Given the description of an element on the screen output the (x, y) to click on. 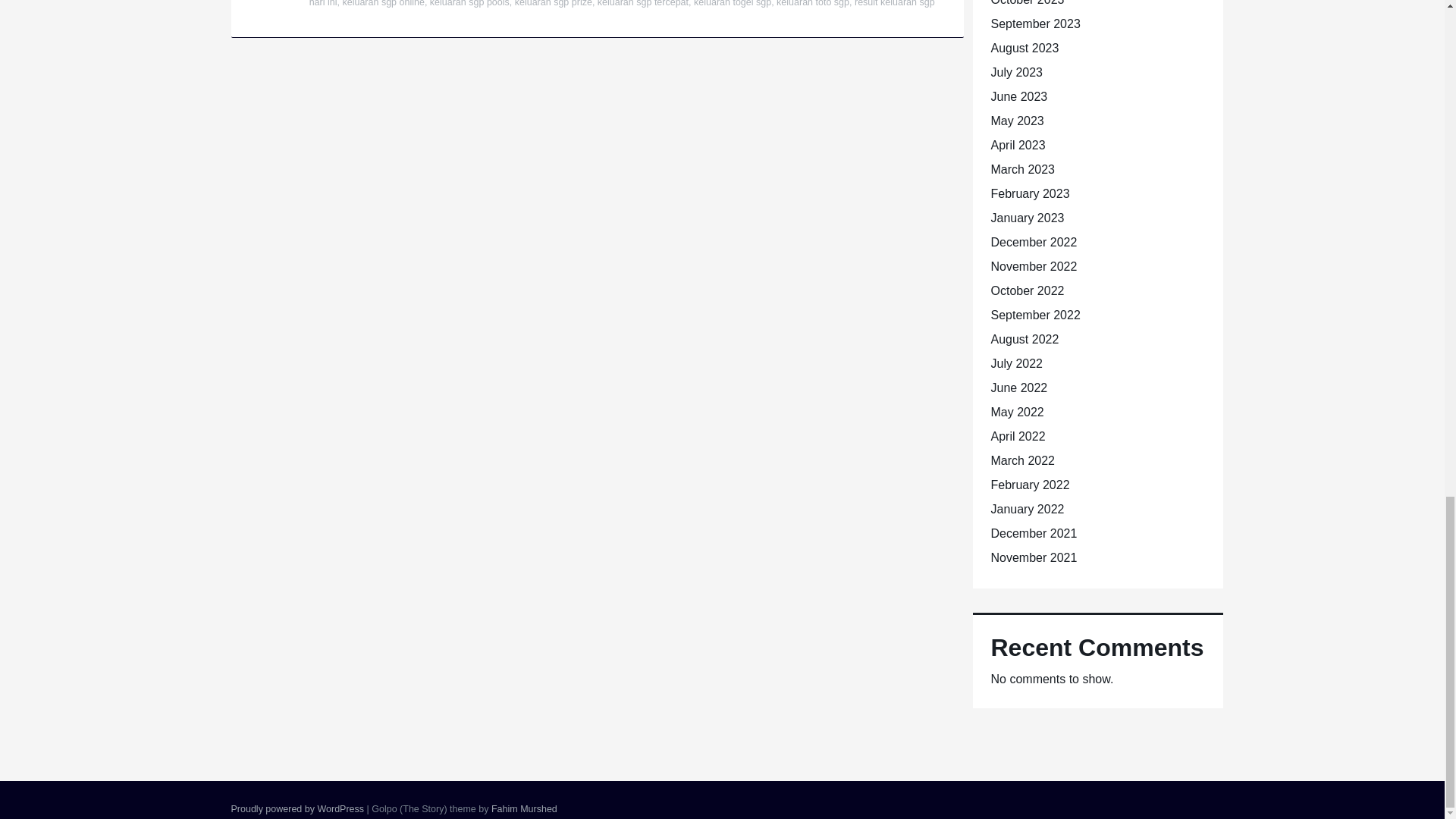
keluaran togel sgp (732, 3)
keluaran sgp hari ini (621, 3)
keluaran toto sgp (812, 3)
keluaran sgp pools (469, 3)
keluaran sgp online (382, 3)
keluaran sgp tercepat (642, 3)
result keluaran sgp (894, 3)
keluaran sgp prize (553, 3)
